Given the description of an element on the screen output the (x, y) to click on. 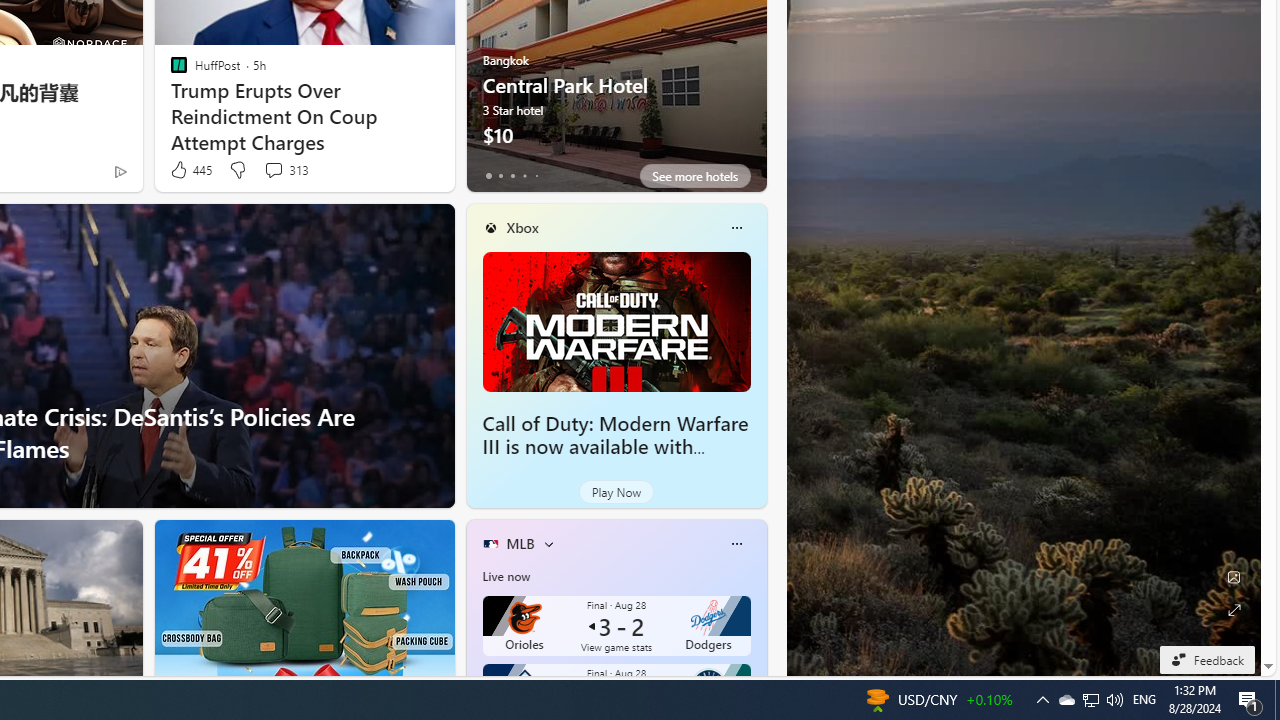
Class: icon-img (736, 543)
More interests (548, 543)
Feedback (1206, 659)
tab-3 (524, 175)
Edit Background (1233, 577)
445 Like (190, 170)
Xbox (521, 227)
